Given the description of an element on the screen output the (x, y) to click on. 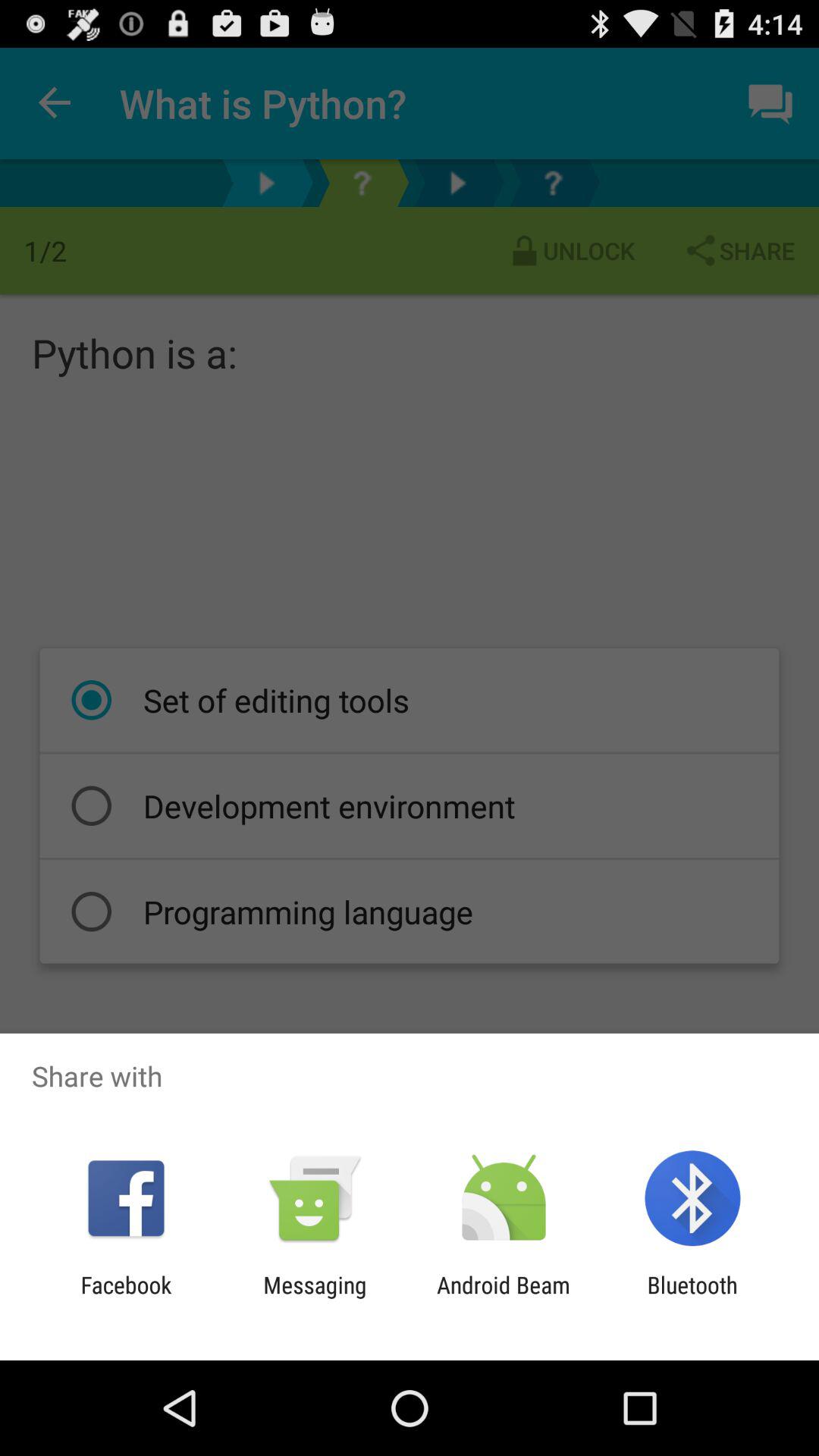
turn on the item next to facebook (314, 1298)
